Given the description of an element on the screen output the (x, y) to click on. 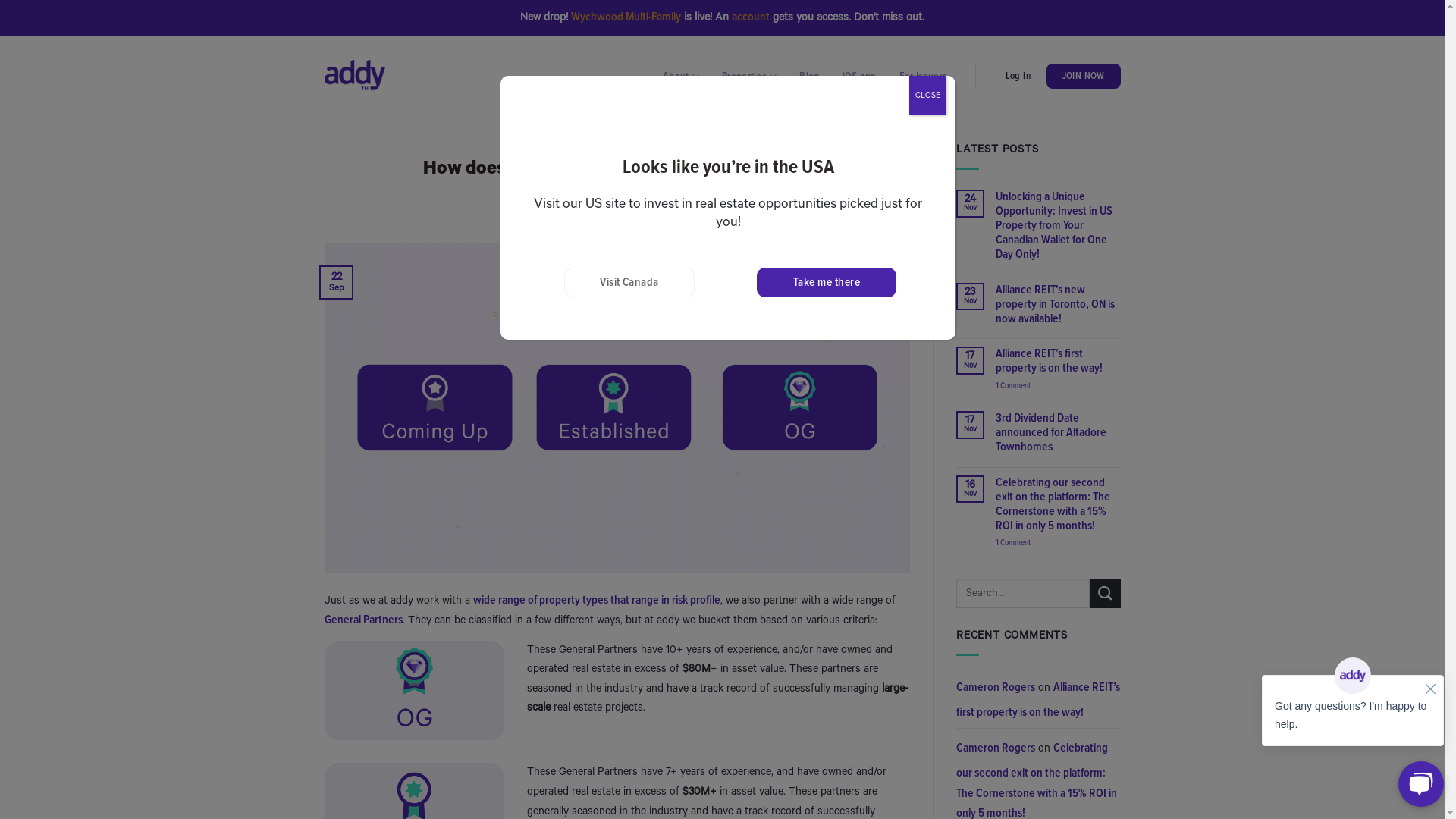
General Partners Element type: text (363, 619)
Wychwood Multi-Family Element type: text (625, 16)
About Element type: text (680, 76)
account Element type: text (750, 16)
For Issuers Element type: text (923, 76)
Cameron Rogers Element type: text (995, 747)
1 Comment Element type: text (1057, 542)
Blog Element type: text (809, 76)
Properties Element type: text (748, 76)
3rd Dividend Date announced for Altadore Townhomes Element type: text (1057, 433)
Take me there Element type: text (825, 282)
1 Comment Element type: text (1057, 385)
Visit Canada Element type: text (629, 282)
SEPTEMBER 22, 2021 Element type: text (622, 217)
CLOSE Element type: text (927, 95)
ARTICLES Element type: text (616, 144)
Cameron Rogers Element type: text (995, 686)
ADDY Element type: text (685, 217)
addy - Real Estate for Everyone Element type: hover (354, 75)
JOIN NOW Element type: text (1083, 76)
iOS app Element type: text (859, 76)
Log In Element type: text (1017, 76)
Skip to content Element type: text (5, 35)
wide range of property types that range in risk profile Element type: text (596, 599)
